Given the description of an element on the screen output the (x, y) to click on. 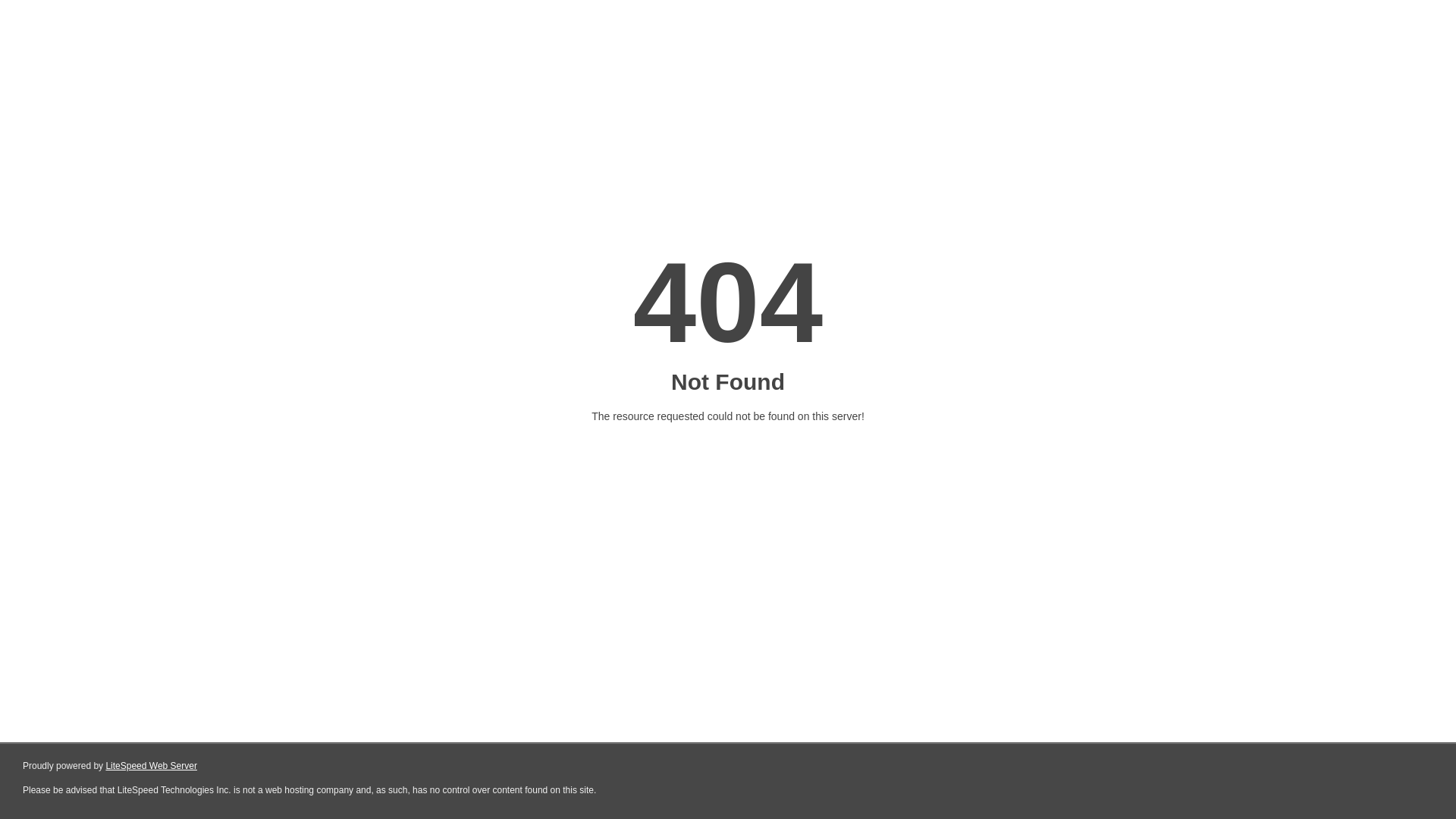
LiteSpeed Web Server Element type: text (151, 765)
